Given the description of an element on the screen output the (x, y) to click on. 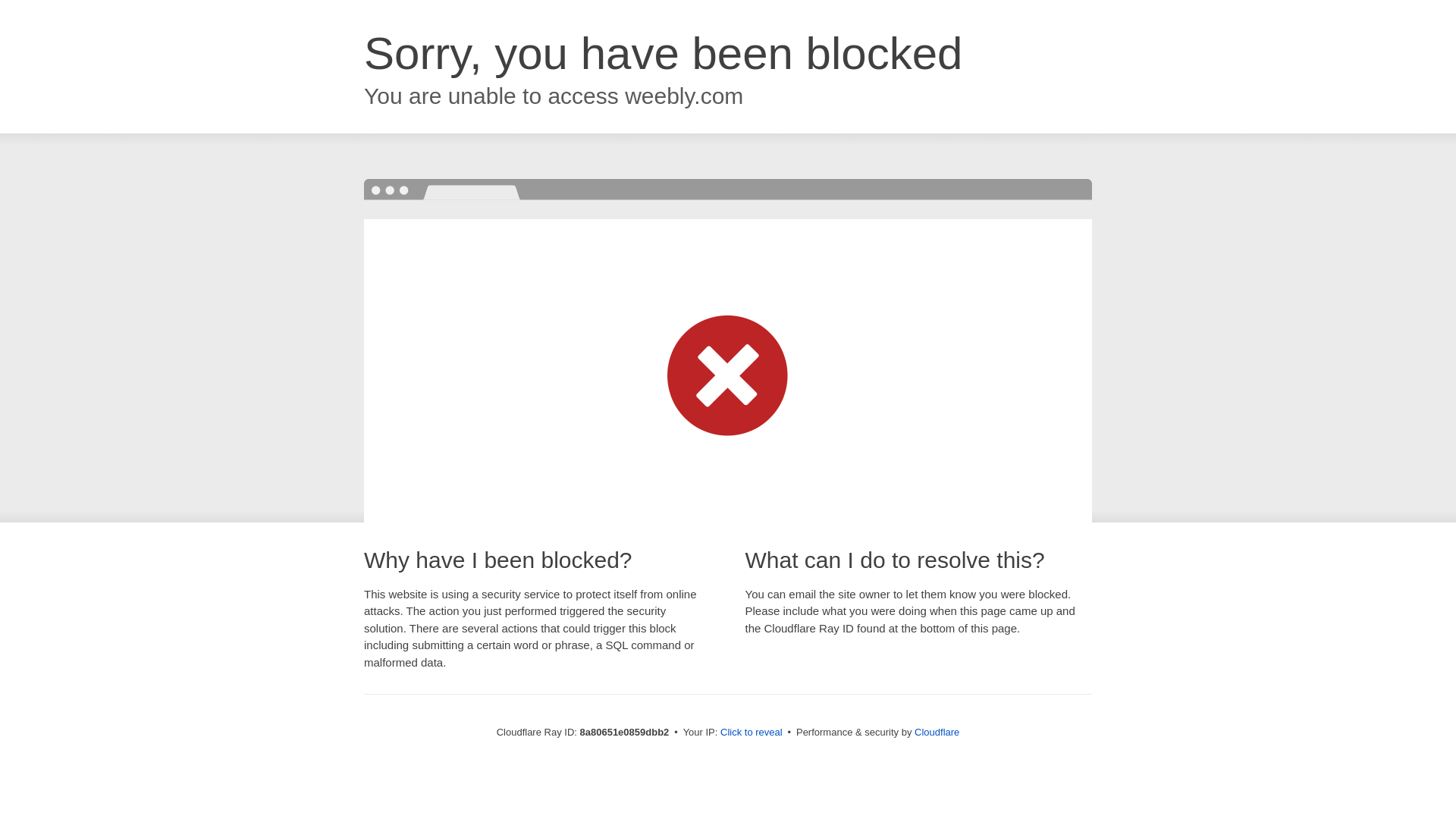
Cloudflare (936, 731)
Click to reveal (751, 732)
